Given the description of an element on the screen output the (x, y) to click on. 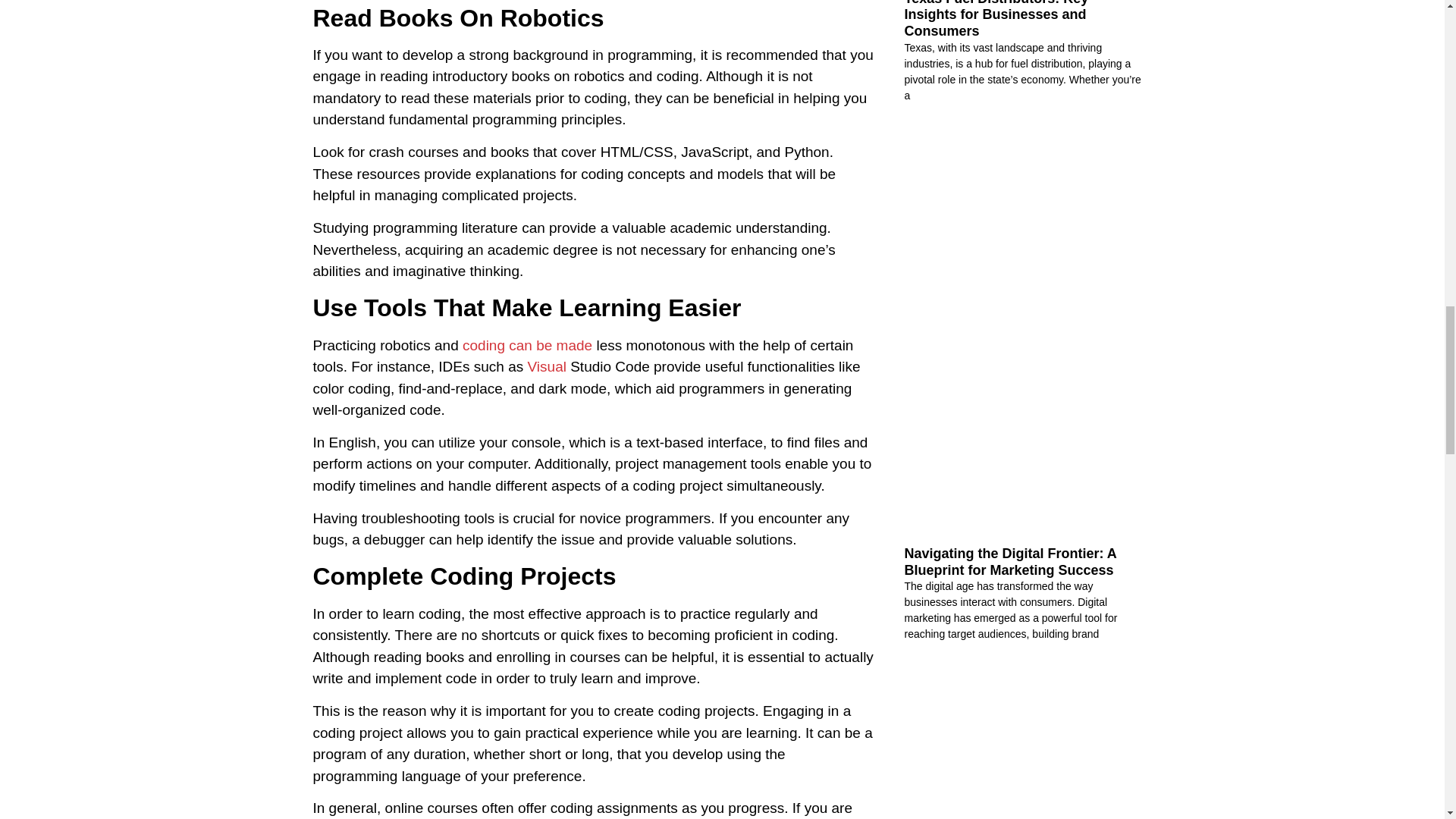
Visual (546, 366)
coding can be made (527, 344)
